Given the description of an element on the screen output the (x, y) to click on. 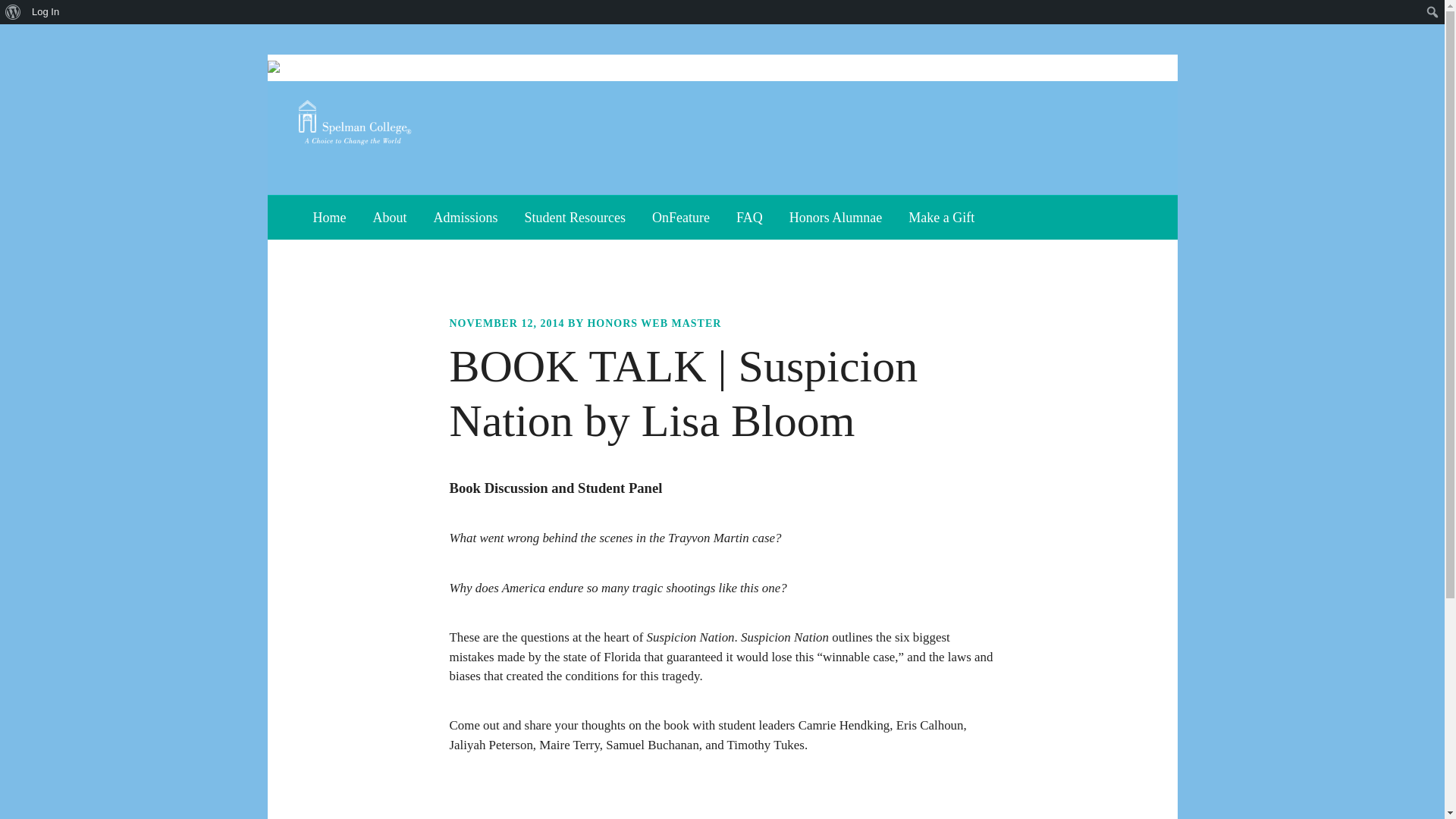
FAQ (749, 217)
HONORS WEB MASTER (653, 323)
Honors Alumnae (835, 217)
Make a Gift (940, 217)
About WordPress (13, 12)
Admissions (465, 217)
Home (334, 217)
SPELMAN COLLEGE (391, 122)
Student Resources (575, 217)
About (389, 217)
OnFeature (680, 217)
Log In (45, 12)
Search (15, 12)
